Given the description of an element on the screen output the (x, y) to click on. 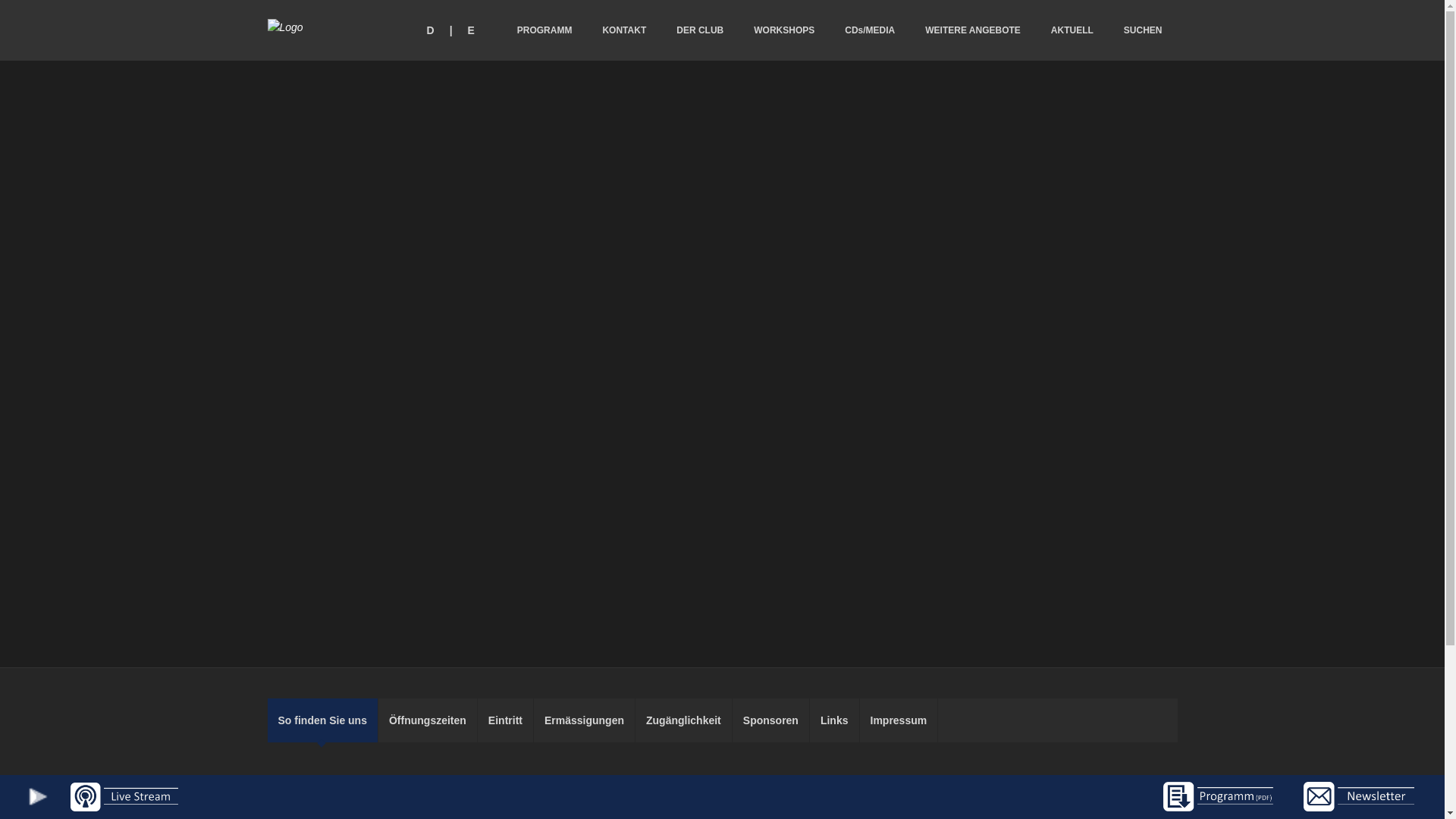
WEITERE ANGEBOTE Element type: text (972, 30)
Eintritt Element type: text (505, 720)
DER CLUB Element type: text (699, 30)
Sponsoren Element type: text (770, 720)
KONTAKT Element type: text (623, 30)
| Element type: text (451, 29)
Impressum Element type: text (898, 720)
PROGRAMM Element type: text (544, 30)
E Element type: text (471, 29)
CDs/MEDIA Element type: text (869, 30)
D Element type: text (429, 29)
WORKSHOPS Element type: text (783, 30)
SUCHEN Element type: text (1142, 30)
So finden Sie uns Element type: text (321, 720)
Links Element type: text (834, 720)
AKTUELL Element type: text (1071, 30)
